Given the description of an element on the screen output the (x, y) to click on. 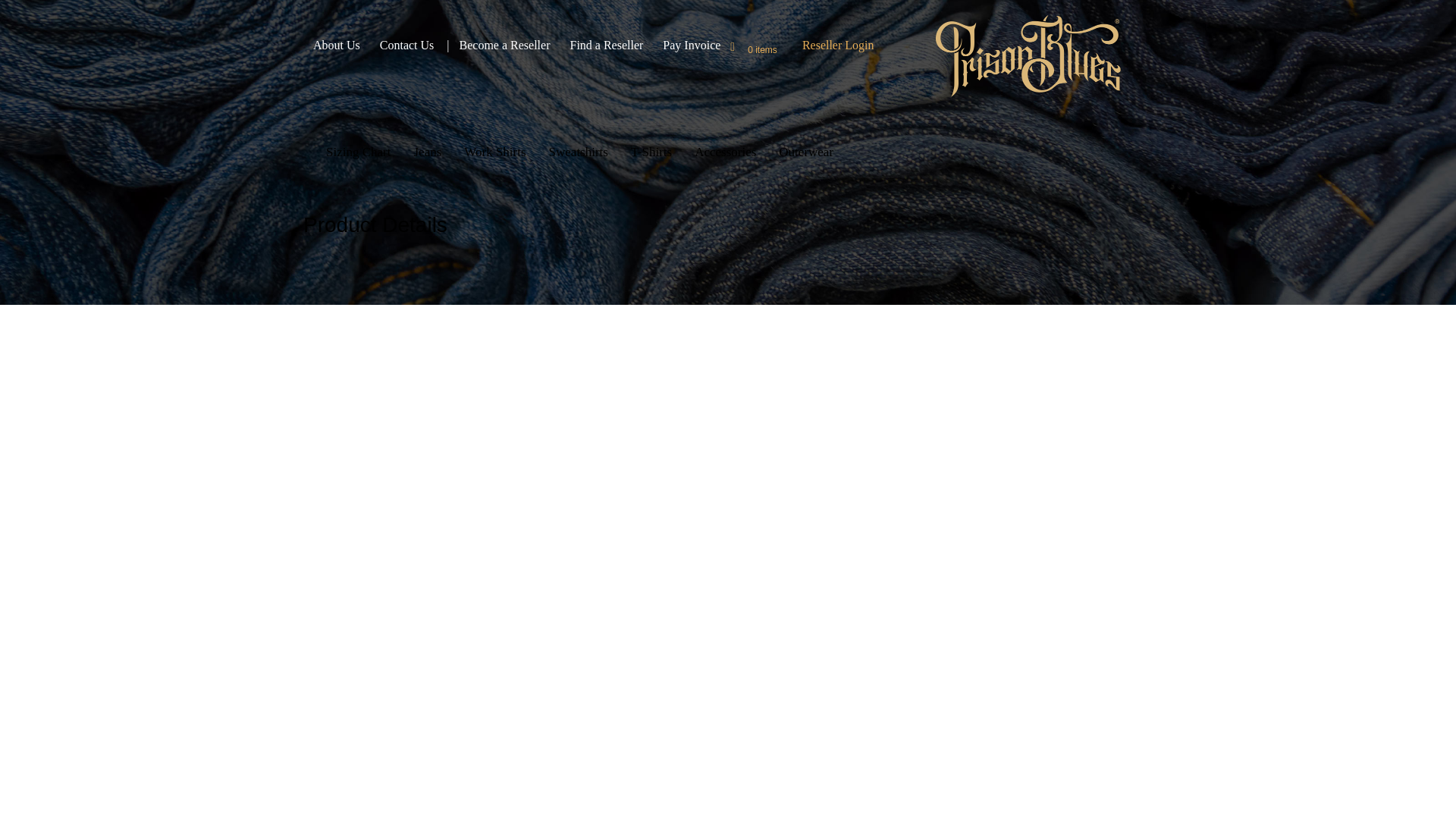
Work Shirts (494, 150)
Shopping Cart (741, 48)
Reseller Login (838, 45)
Accessories (724, 150)
T-Shirts (651, 150)
0 items (762, 49)
About Us (336, 45)
Contact Us (406, 45)
Become a Reseller (505, 45)
Jeans (426, 150)
Sizing Chart (357, 150)
Pay Invoice (691, 45)
Sweatshirts (578, 150)
Prison Blues (1028, 56)
Find a Reseller (606, 45)
